Given the description of an element on the screen output the (x, y) to click on. 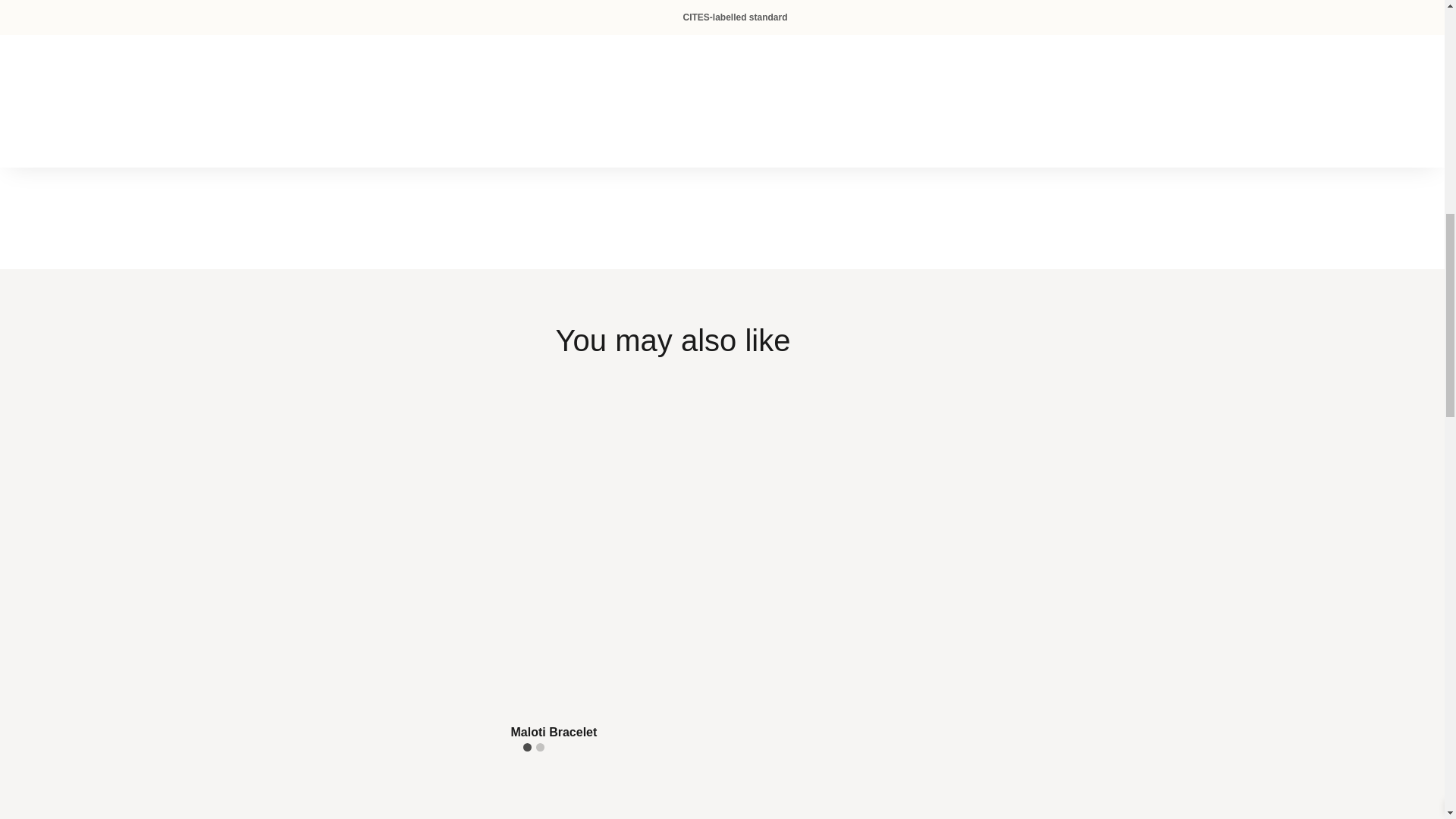
Sandfontein Diamond Bracelet (673, 786)
Maloti Bracelet (673, 571)
